Given the description of an element on the screen output the (x, y) to click on. 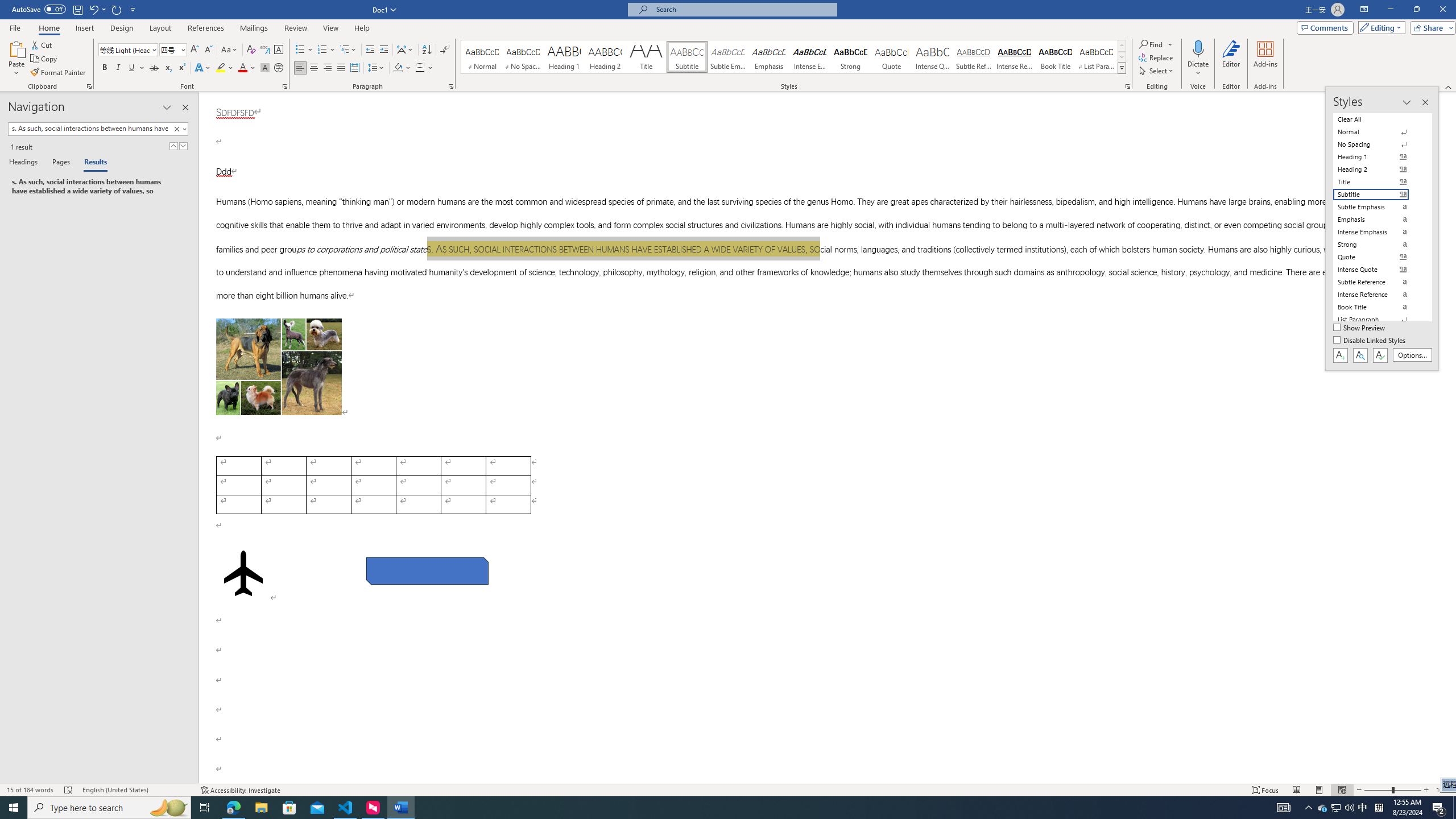
Paste (16, 58)
Enclose Characters... (278, 67)
Disable Linked Styles (1370, 340)
Underline (136, 67)
Copy (45, 58)
Close pane (185, 107)
Heading 2 (605, 56)
Print Layout (1318, 790)
Review (295, 28)
Morphological variation in six dogs (278, 366)
Bullets (304, 49)
Grow Font (193, 49)
Align Left (300, 67)
Zoom 100% (1443, 790)
